Given the description of an element on the screen output the (x, y) to click on. 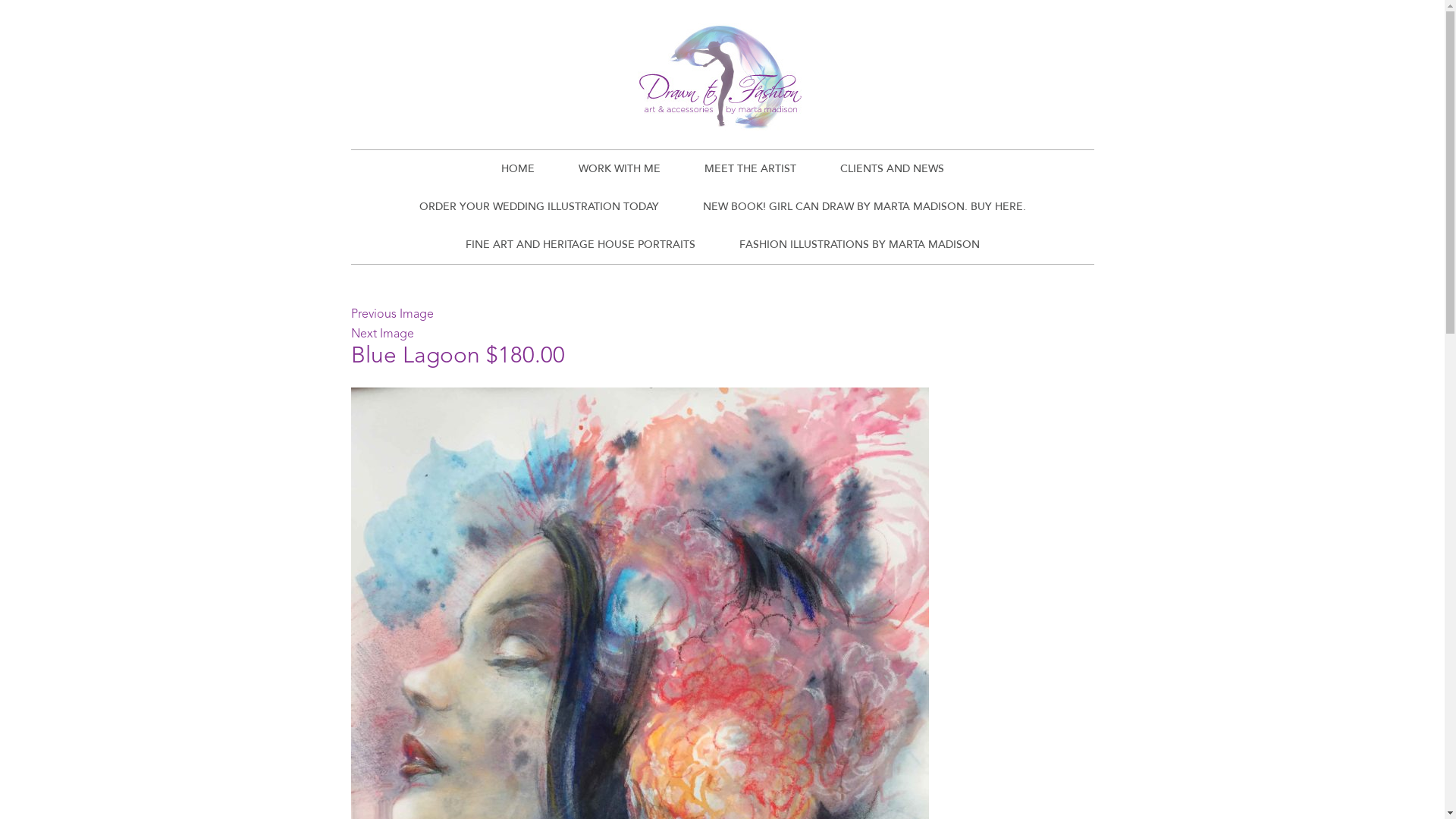
WORK WITH ME Element type: text (619, 169)
Next Image Element type: text (381, 334)
HOME Element type: text (517, 169)
FASHION ILLUSTRATIONS BY MARTA MADISON Element type: text (859, 244)
FINE ART AND HERITAGE HOUSE PORTRAITS Element type: text (579, 244)
ORDER YOUR WEDDING ILLUSTRATION TODAY Element type: text (538, 206)
Previous Image Element type: text (391, 314)
MEET THE ARTIST Element type: text (750, 169)
NEW BOOK! GIRL CAN DRAW BY MARTA MADISON. BUY HERE. Element type: text (864, 206)
CLIENTS AND NEWS Element type: text (891, 169)
